Given the description of an element on the screen output the (x, y) to click on. 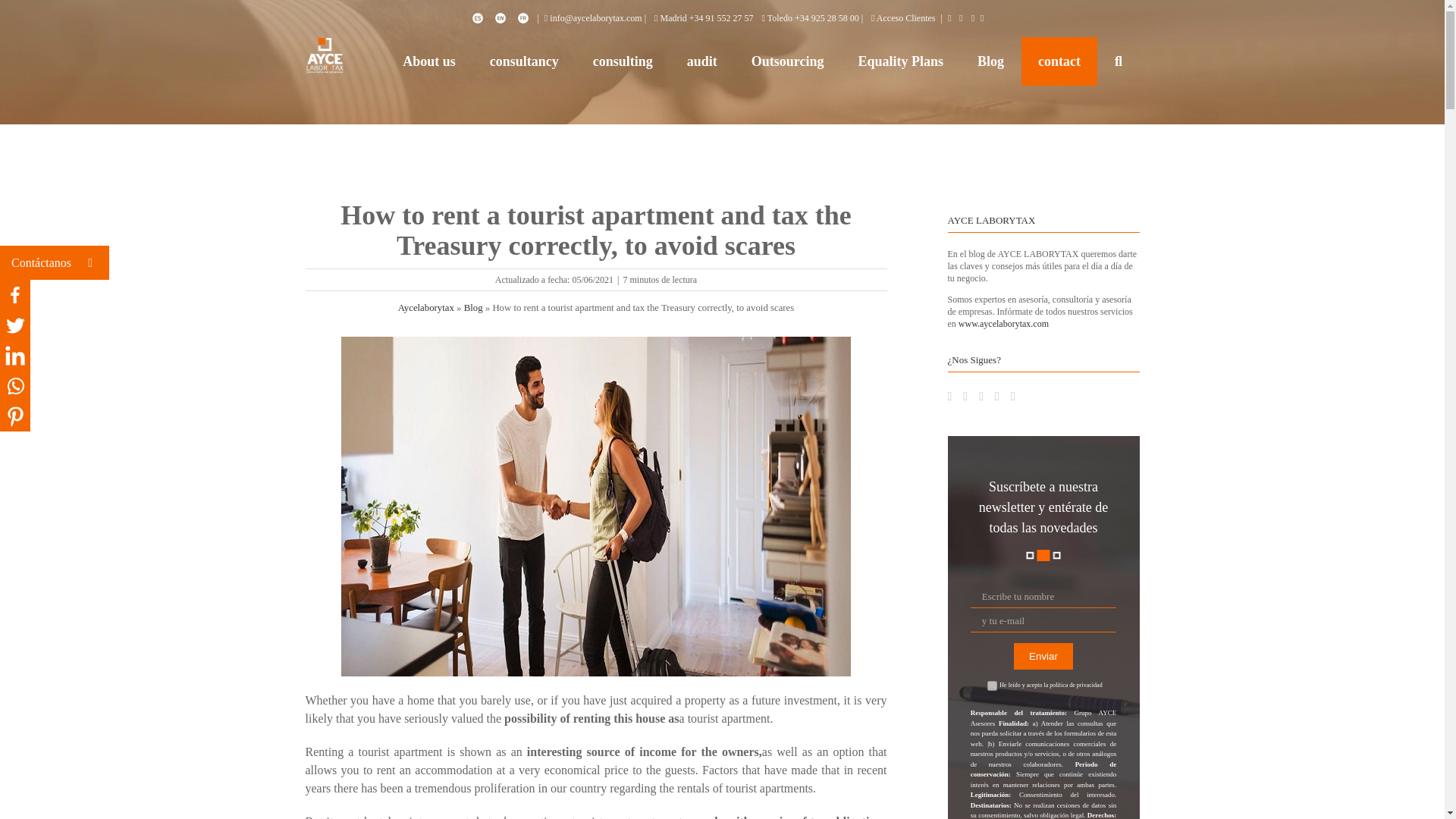
Outsourcing (787, 60)
audit (701, 60)
About us (429, 60)
on (992, 685)
Acceso Clientes (902, 18)
consultancy (523, 60)
consulting (622, 60)
